Given the description of an element on the screen output the (x, y) to click on. 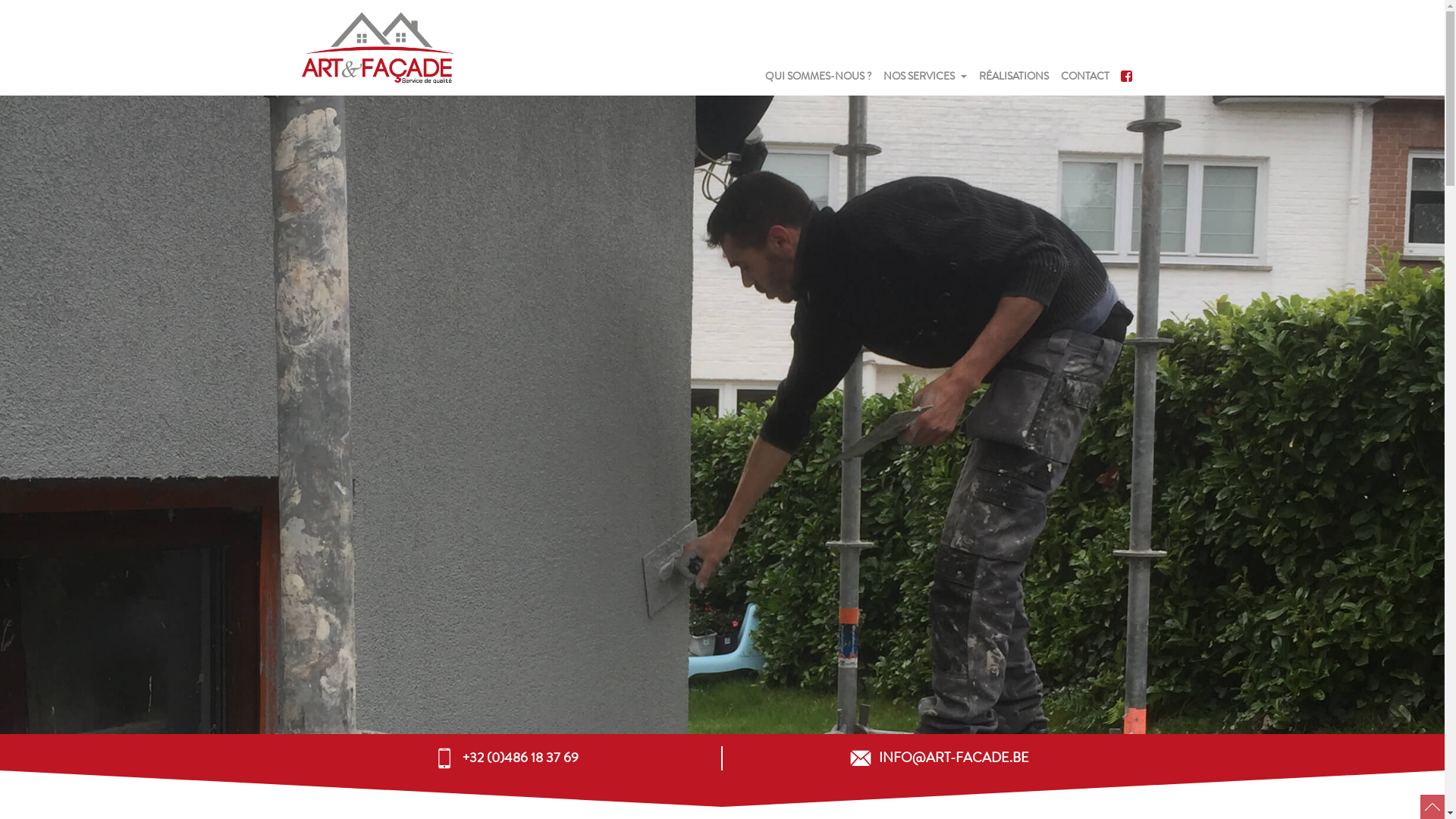
+32 (0)486 18 37 69 Element type: text (520, 757)
NOS SERVICES Element type: text (917, 76)
INFO@ART-FACADE.BE Element type: text (953, 757)
CONTACT Element type: text (1084, 76)
QUI SOMMES-NOUS ? Element type: text (817, 76)
